Given the description of an element on the screen output the (x, y) to click on. 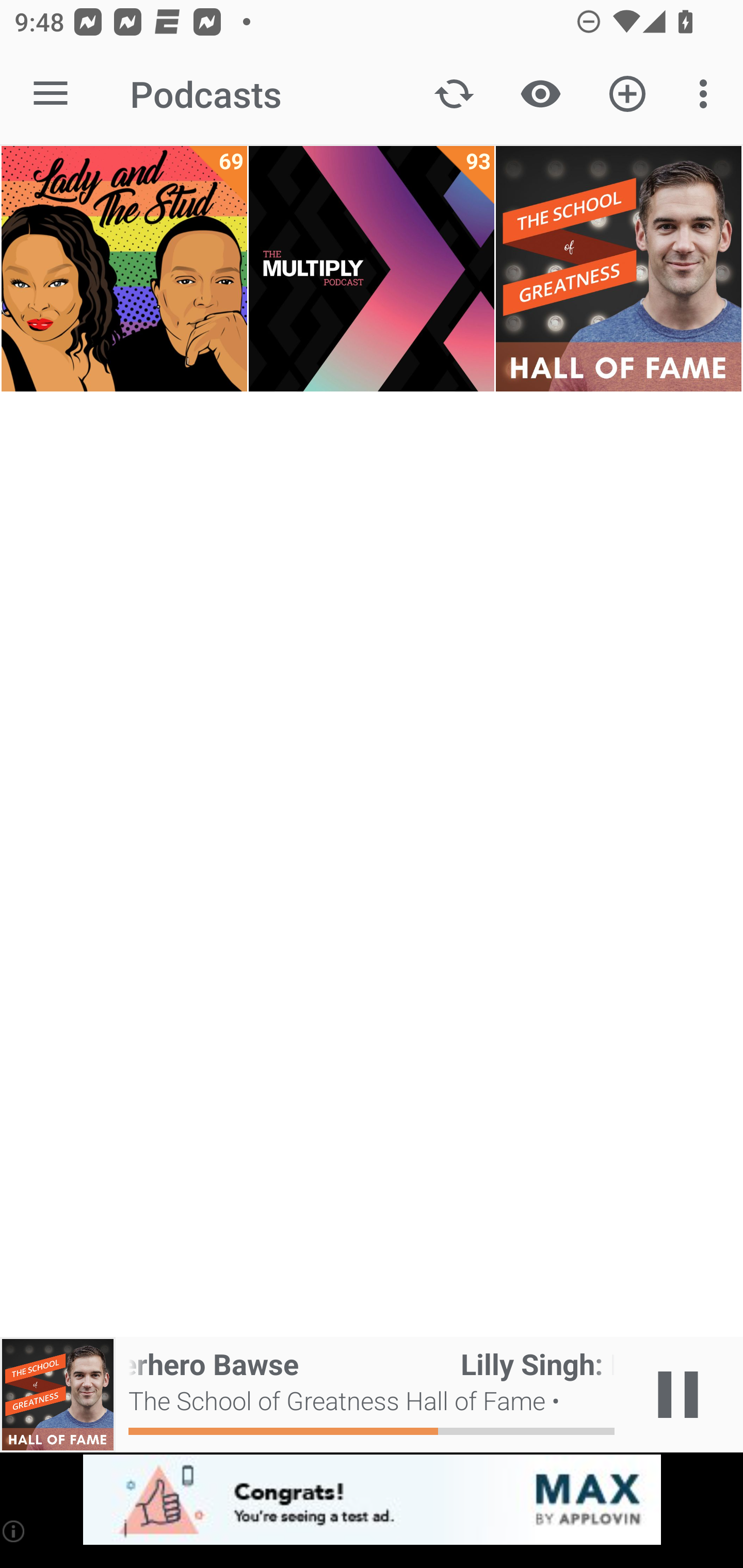
Open navigation sidebar (50, 93)
Update (453, 93)
Show / Hide played content (540, 93)
Add new Podcast (626, 93)
More options (706, 93)
Lady and The Stud 69 (124, 268)
The Multiply Podcast 93 (371, 268)
The School of Greatness Hall of Fame (618, 268)
Play / Pause (677, 1394)
app-monetization (371, 1500)
(i) (14, 1531)
